Given the description of an element on the screen output the (x, y) to click on. 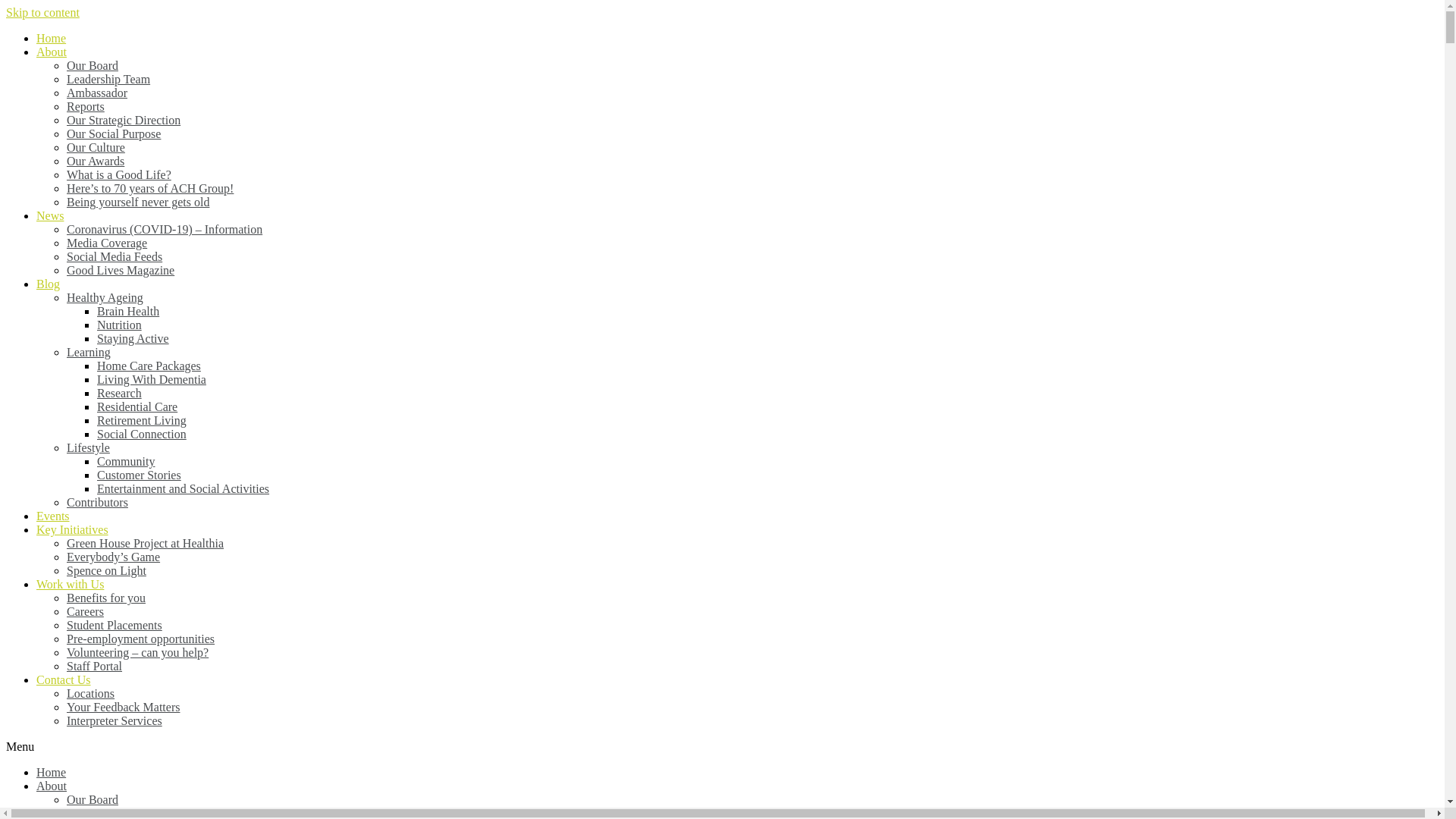
Staff Portal Element type: text (94, 665)
Blog Element type: text (47, 283)
Learning Element type: text (88, 351)
Home Element type: text (50, 771)
Careers Element type: text (84, 611)
Ambassador Element type: text (96, 92)
Student Placements Element type: text (114, 624)
Living With Dementia Element type: text (151, 379)
Skip to content Element type: text (42, 12)
Home Element type: text (50, 37)
Staying Active Element type: text (133, 338)
Interpreter Services Element type: text (114, 720)
Healthy Ageing Element type: text (104, 297)
Key Initiatives Element type: text (72, 529)
News Element type: text (49, 215)
Our Strategic Direction Element type: text (123, 119)
Spence on Light Element type: text (106, 570)
Residential Care Element type: text (137, 406)
Our Social Purpose Element type: text (113, 133)
About Element type: text (51, 51)
Our Awards Element type: text (95, 160)
Media Coverage Element type: text (106, 242)
Pre-employment opportunities Element type: text (140, 638)
Your Feedback Matters Element type: text (122, 706)
Brain Health Element type: text (128, 310)
Entertainment and Social Activities Element type: text (183, 488)
Research Element type: text (119, 392)
Being yourself never gets old Element type: text (137, 201)
Benefits for you Element type: text (105, 597)
What is a Good Life? Element type: text (118, 174)
Contact Us Element type: text (63, 679)
Our Culture Element type: text (95, 147)
Social Media Feeds Element type: text (114, 256)
Locations Element type: text (90, 693)
Nutrition Element type: text (119, 324)
Community Element type: text (125, 461)
Customer Stories Element type: text (139, 474)
About Element type: text (51, 785)
Retirement Living Element type: text (141, 420)
Reports Element type: text (85, 106)
Contributors Element type: text (97, 501)
Leadership Team Element type: text (108, 78)
Events Element type: text (52, 515)
Work with Us Element type: text (69, 583)
Our Board Element type: text (92, 799)
Social Connection Element type: text (141, 433)
Lifestyle Element type: text (87, 447)
Home Care Packages Element type: text (148, 365)
Green House Project at Healthia Element type: text (144, 542)
Our Board Element type: text (92, 65)
Good Lives Magazine Element type: text (120, 269)
